Given the description of an element on the screen output the (x, y) to click on. 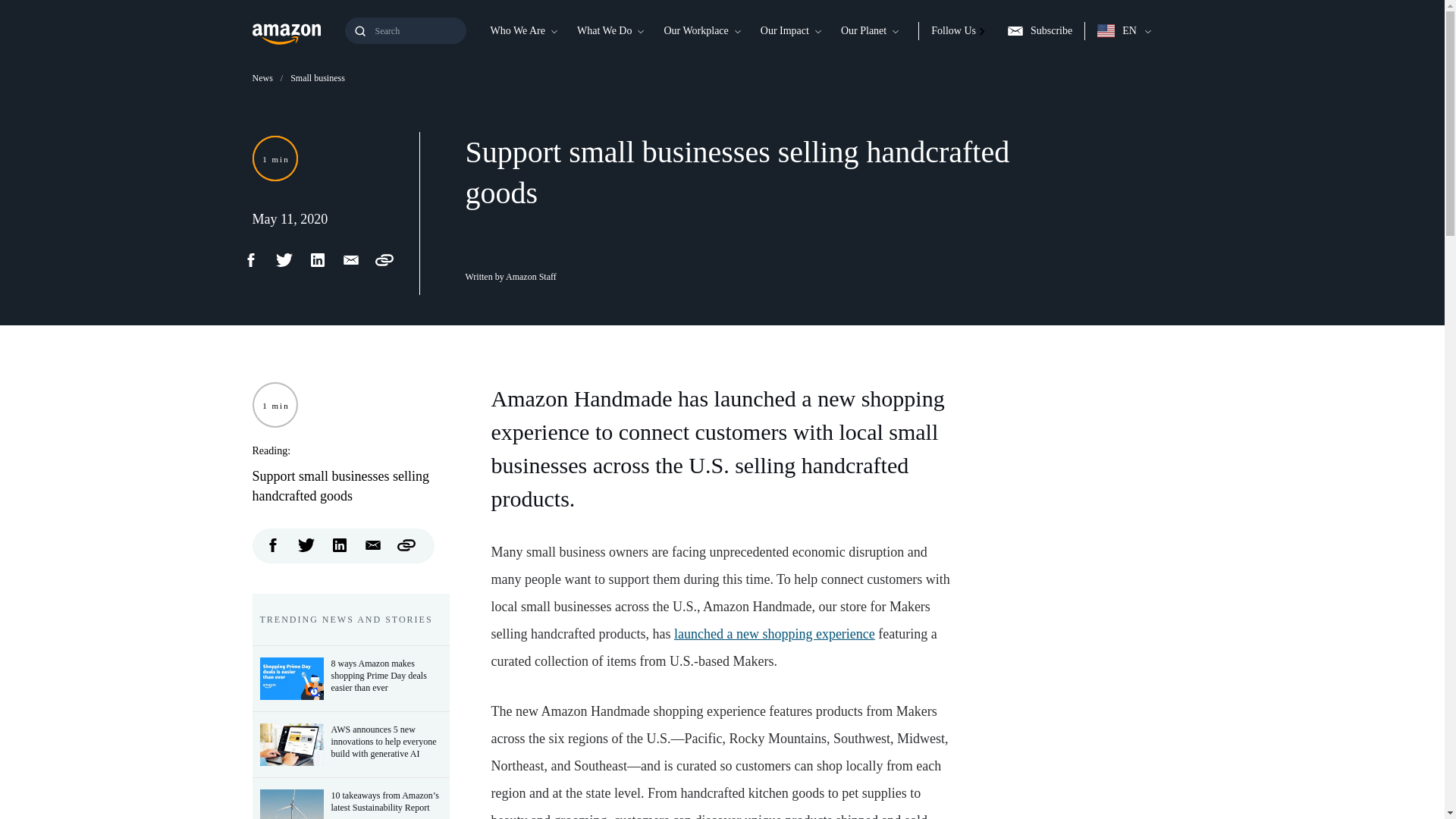
What We Do (603, 30)
Our Workplace (694, 30)
LinkedIn Share (339, 545)
Twitter Share (306, 545)
Facebook Share (258, 259)
copy link (390, 259)
LinkedIn Share (323, 259)
email (357, 259)
copy link (405, 545)
Who We Are (516, 30)
Twitter Share (291, 259)
Our Impact (784, 30)
Facebook Share (272, 545)
email (372, 545)
